Given the description of an element on the screen output the (x, y) to click on. 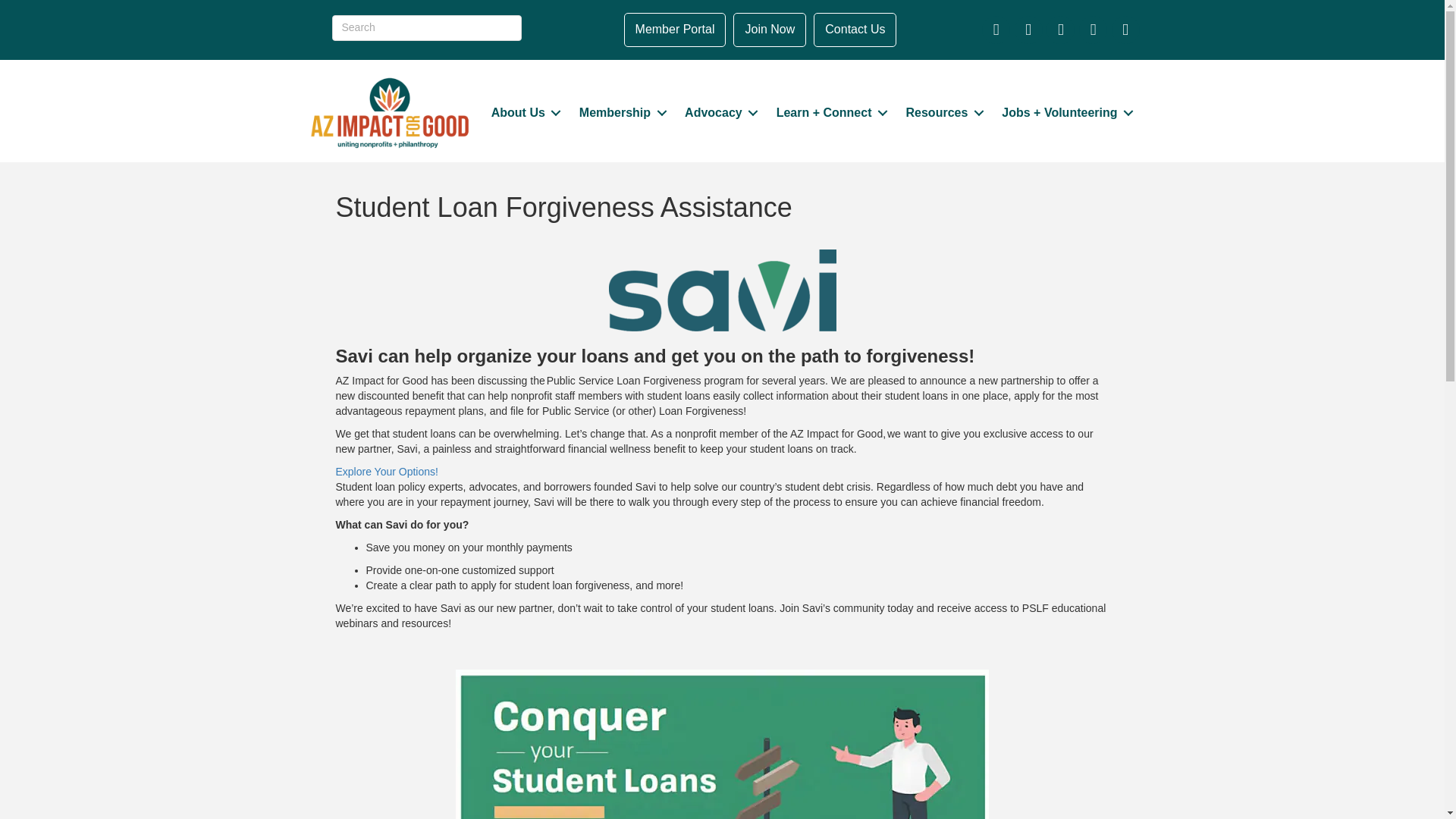
About Us (523, 113)
Contact Us (854, 29)
Member Portal (675, 29)
Join Now (769, 29)
savi flyer (721, 744)
Membership (619, 113)
Advocacy (718, 113)
